Given the description of an element on the screen output the (x, y) to click on. 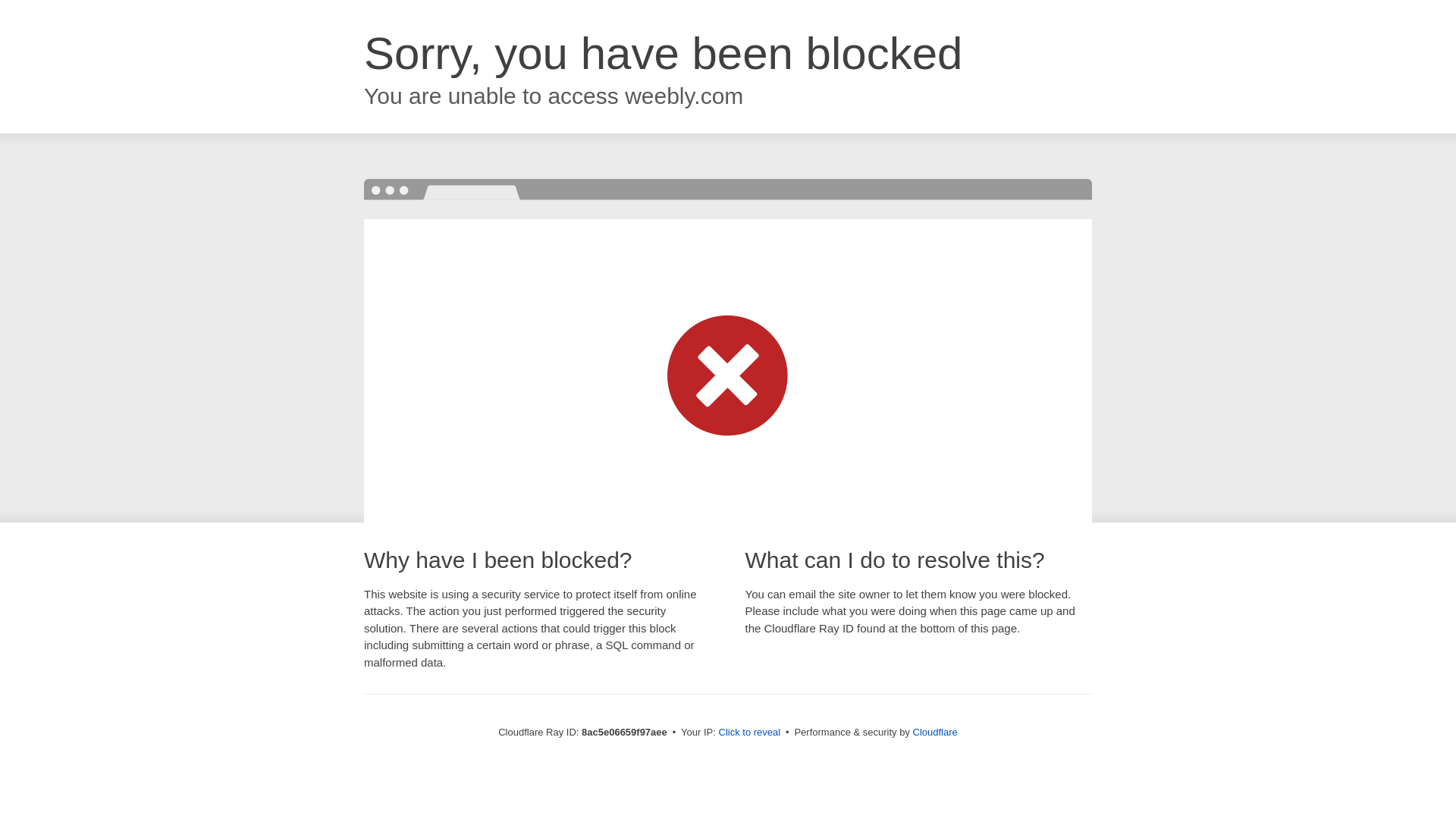
Cloudflare (935, 731)
Click to reveal (749, 732)
